Given the description of an element on the screen output the (x, y) to click on. 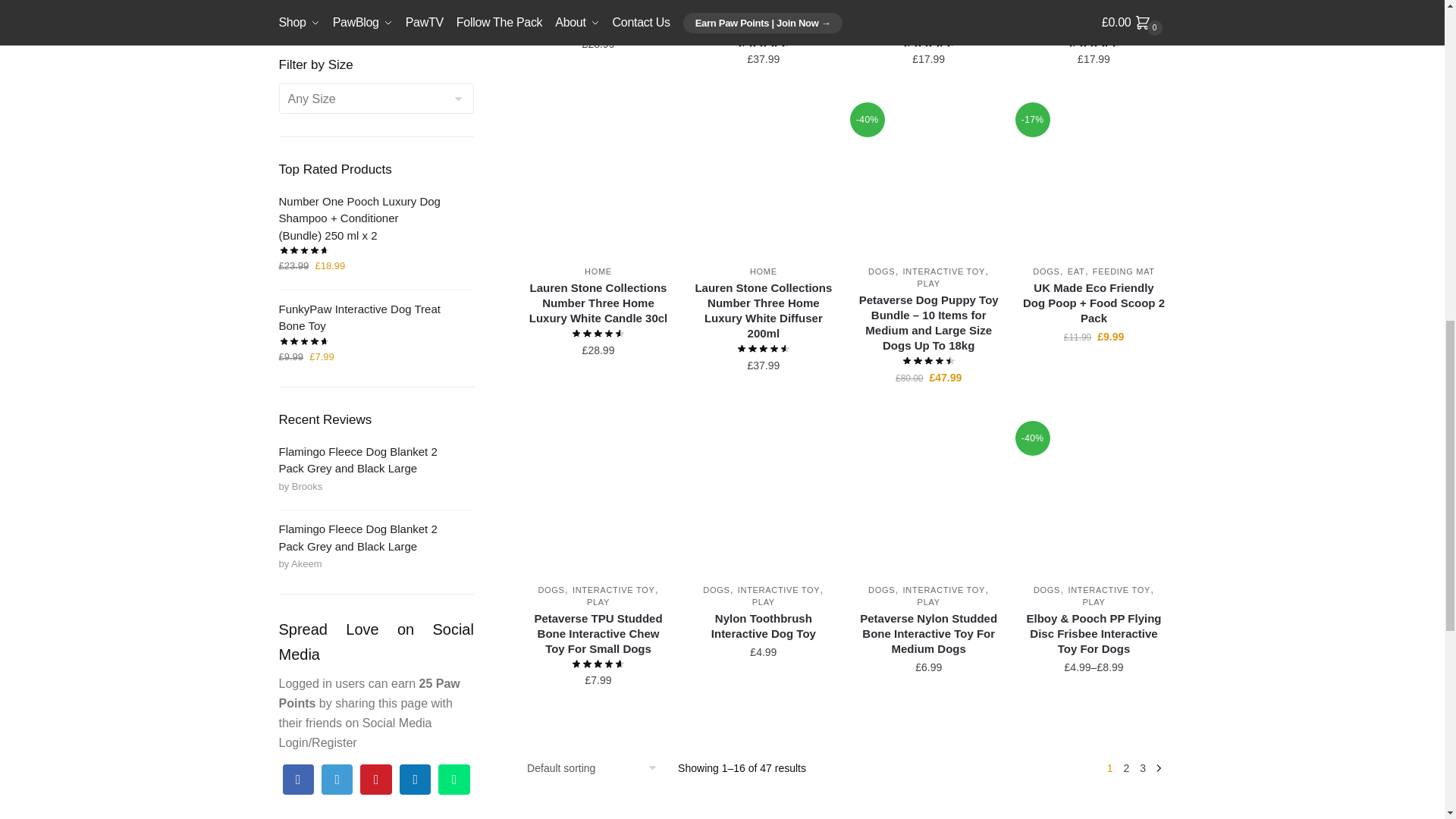
Nylon Toothbrush Interactive Dog Toy (763, 499)
